Given the description of an element on the screen output the (x, y) to click on. 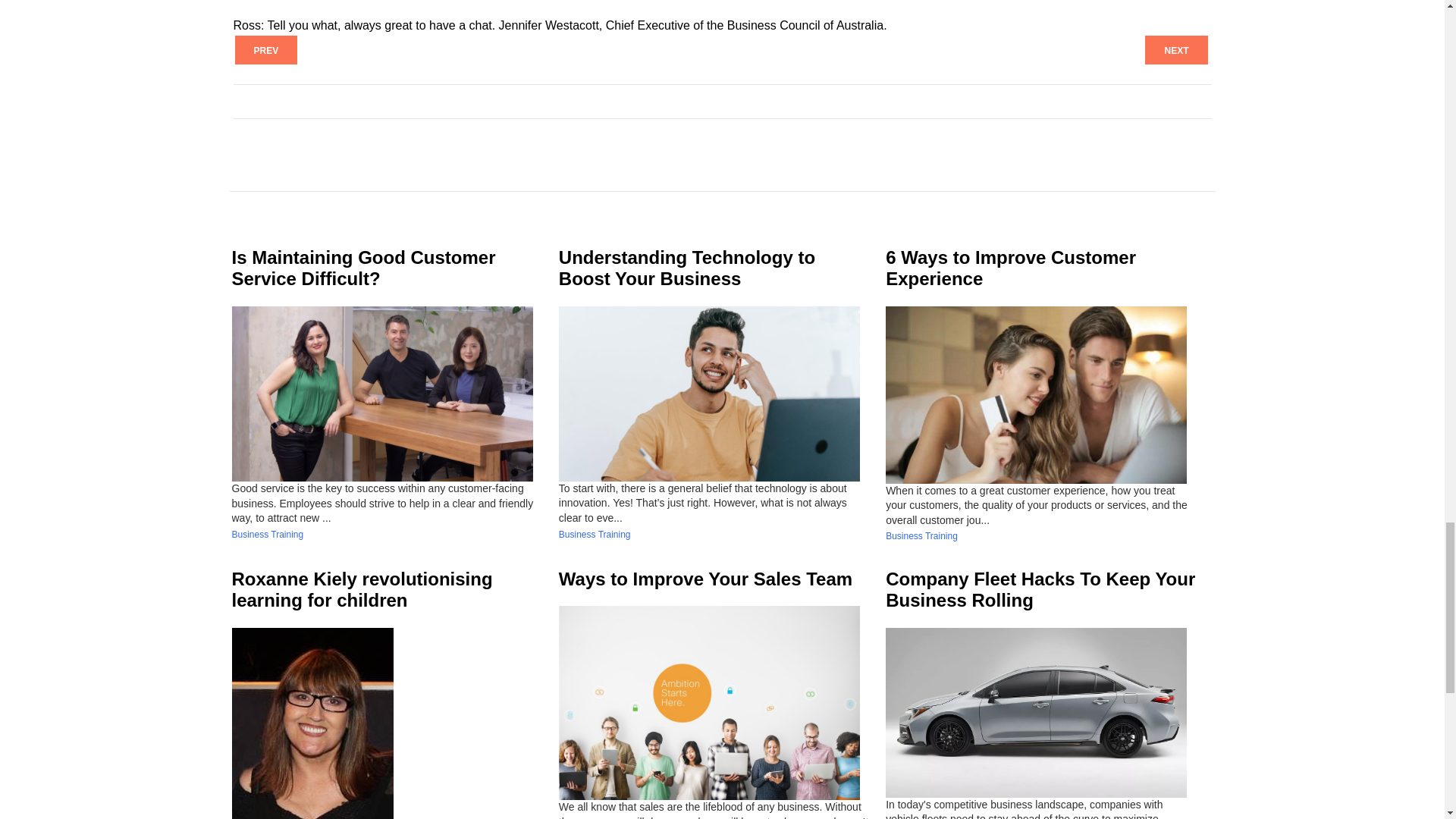
Is Maintaining Good Customer Service Difficult? (363, 268)
Ways to Improve Your Sales Team (705, 578)
Business Training (594, 534)
Company Fleet Hacks To Keep Your Business Rolling (1040, 589)
Roxanne Kiely revolutionising learning for children (362, 589)
6 Ways to Improve Customer Experience (1010, 268)
Roxanne Kiely revolutionising learning for children (362, 589)
Company Fleet Hacks To Keep Your Business Rolling (1040, 589)
6 Ways to Improve Customer Experience (1010, 268)
Business Training (921, 535)
